Given the description of an element on the screen output the (x, y) to click on. 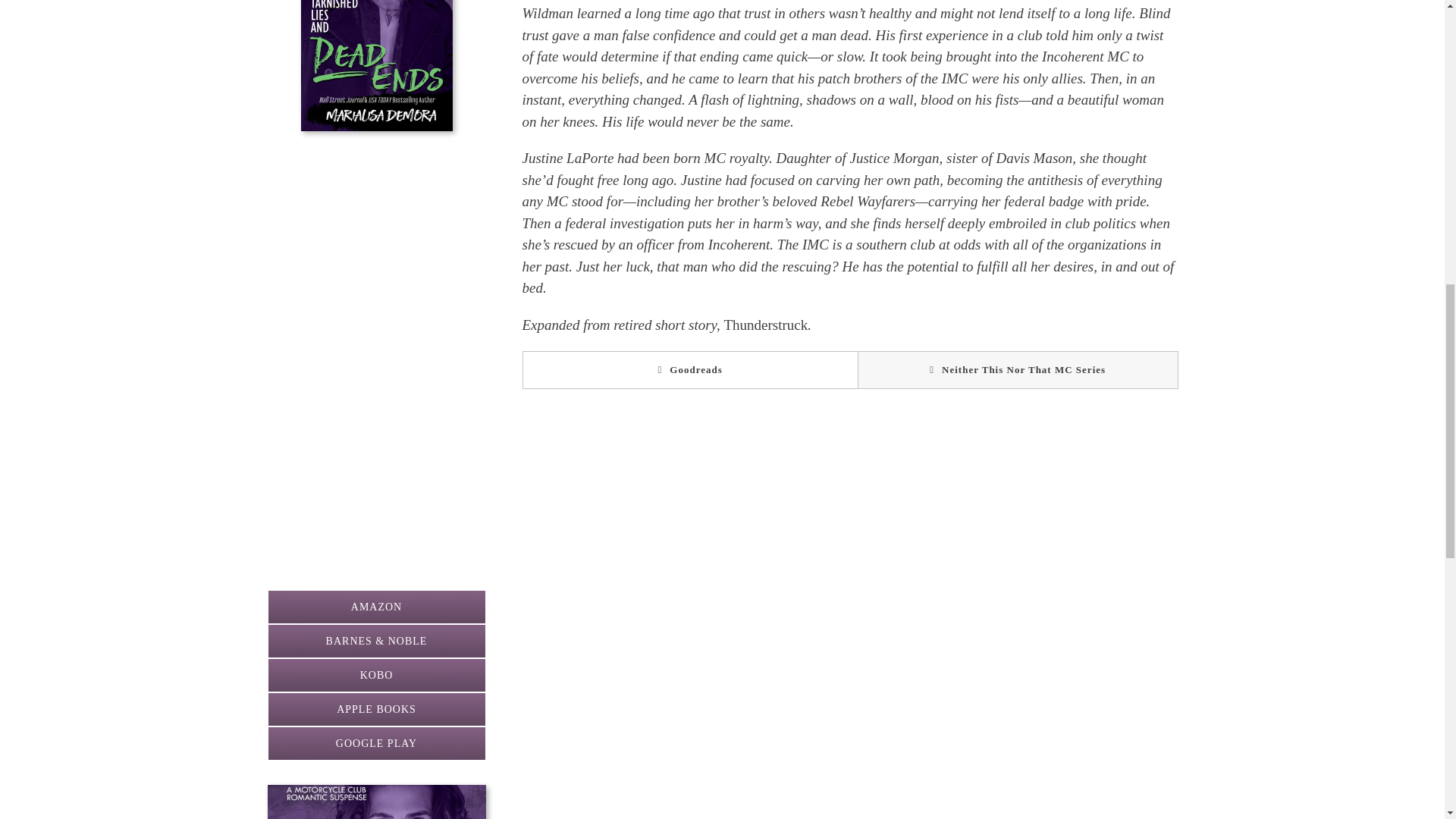
GOOGLE PLAY (375, 743)
AMAZON (375, 606)
Neither This Nor That MC Series (1017, 370)
KOBO (375, 675)
Goodreads (689, 370)
APPLE BOOKS (375, 709)
